Given the description of an element on the screen output the (x, y) to click on. 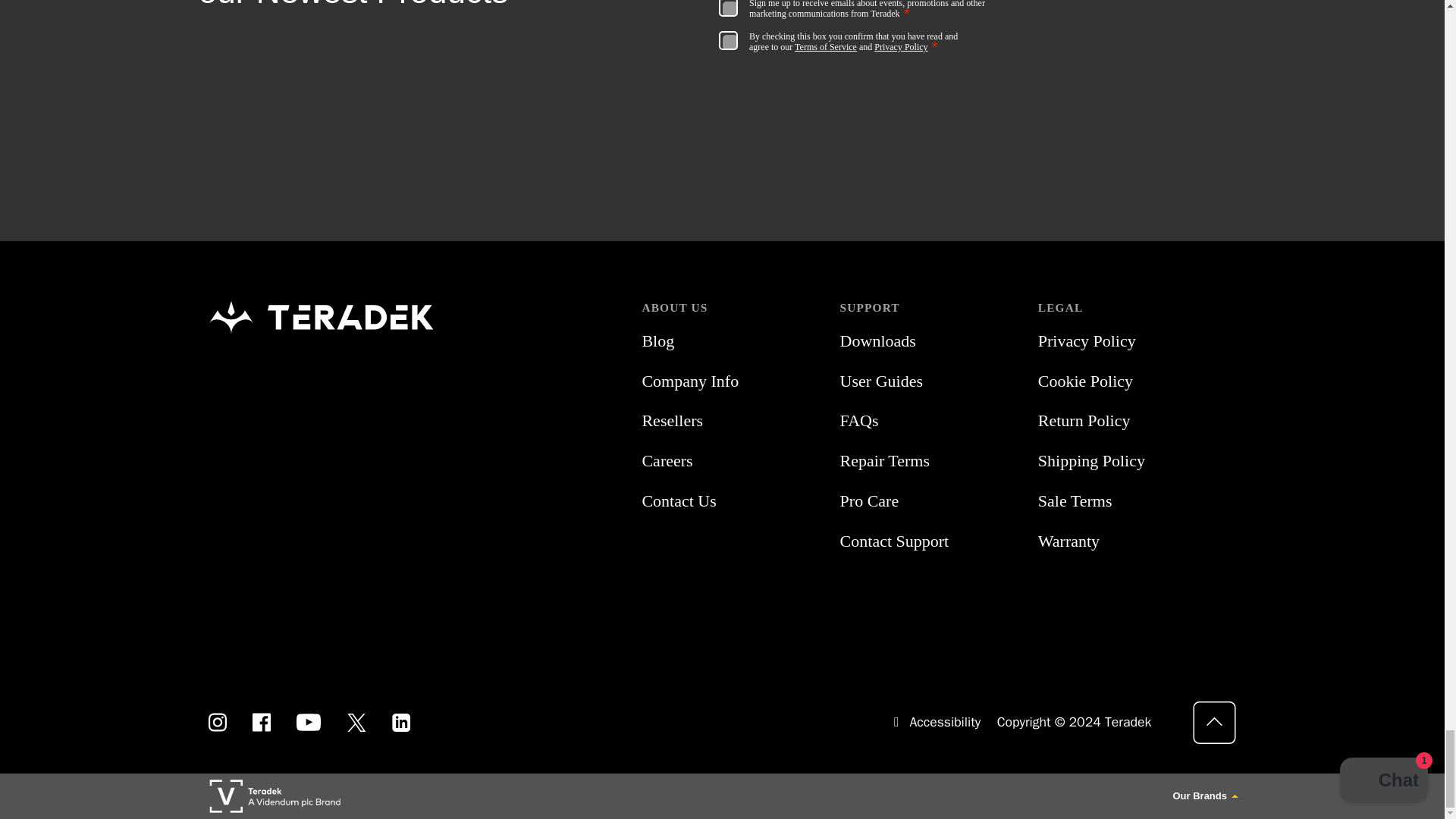
 Iframe (975, 46)
